Given the description of an element on the screen output the (x, y) to click on. 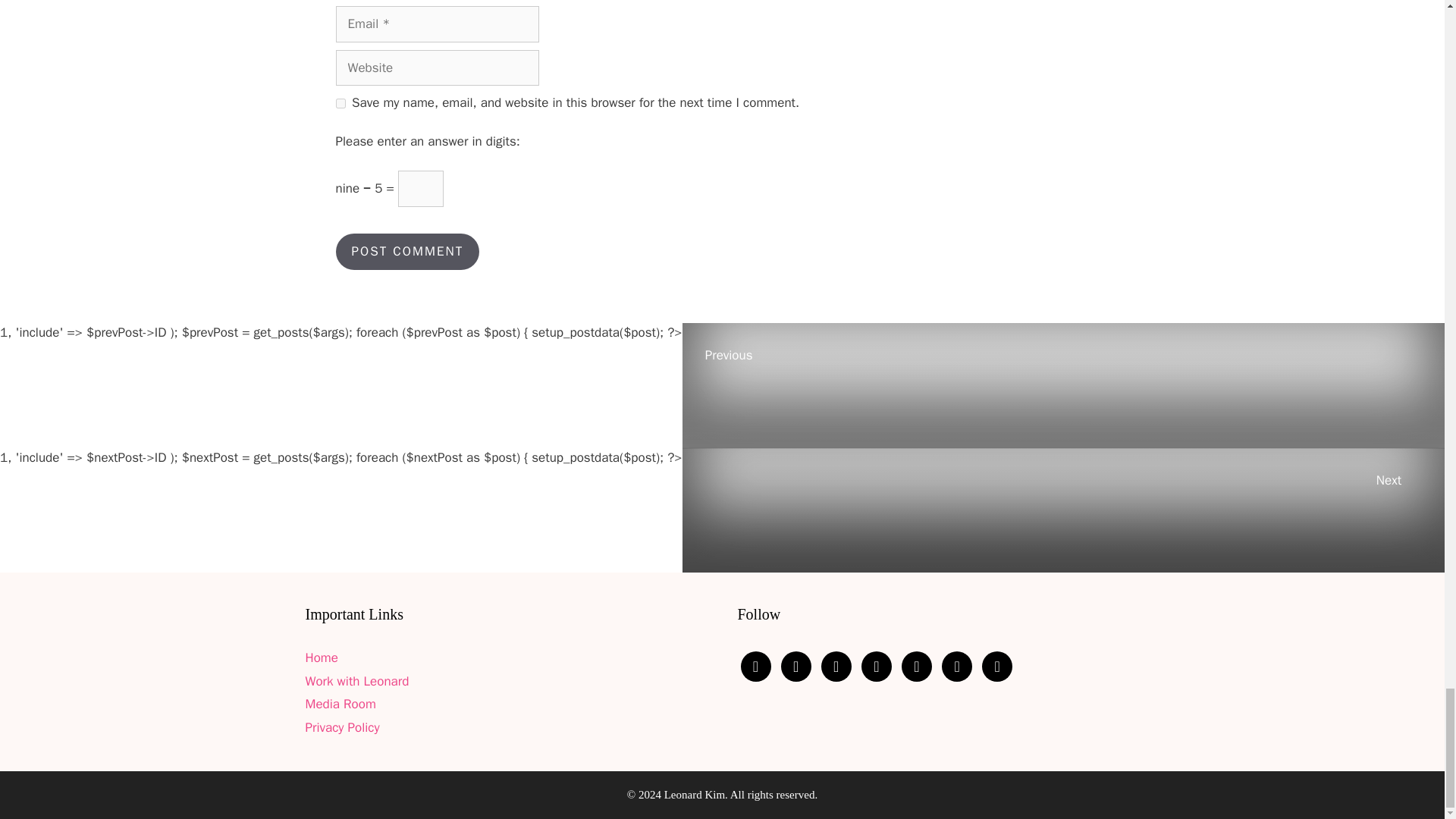
Post Comment (406, 251)
Default Label (795, 666)
Facebook (916, 666)
yes (339, 103)
Default Label (836, 666)
Post Comment (406, 251)
Default Label (957, 666)
Twitter (754, 666)
Instagram (876, 666)
Default Label (996, 666)
